Given the description of an element on the screen output the (x, y) to click on. 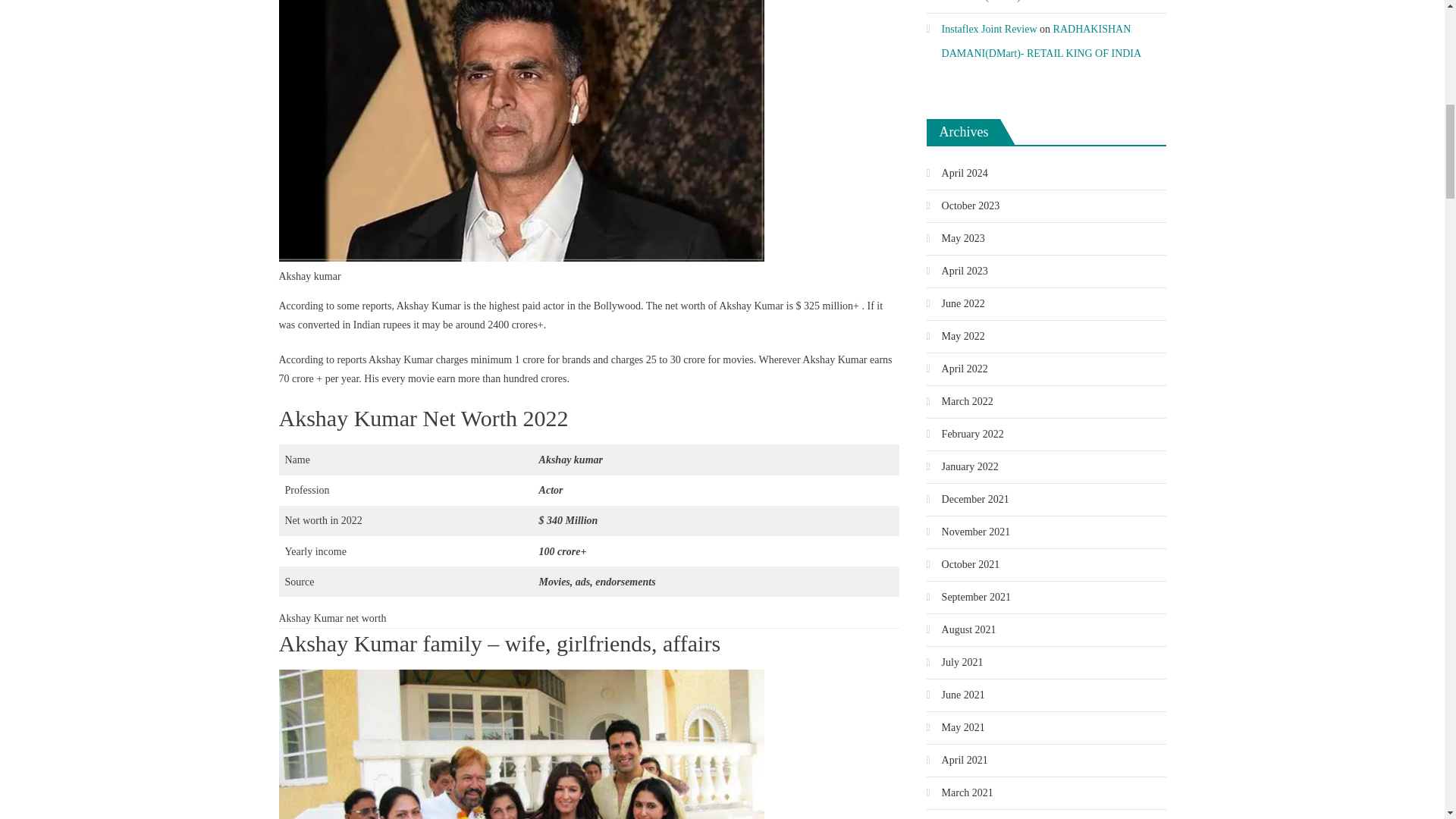
Akshay Kumar Net worth (521, 130)
Akshay Kumar Net worth (521, 744)
